Given the description of an element on the screen output the (x, y) to click on. 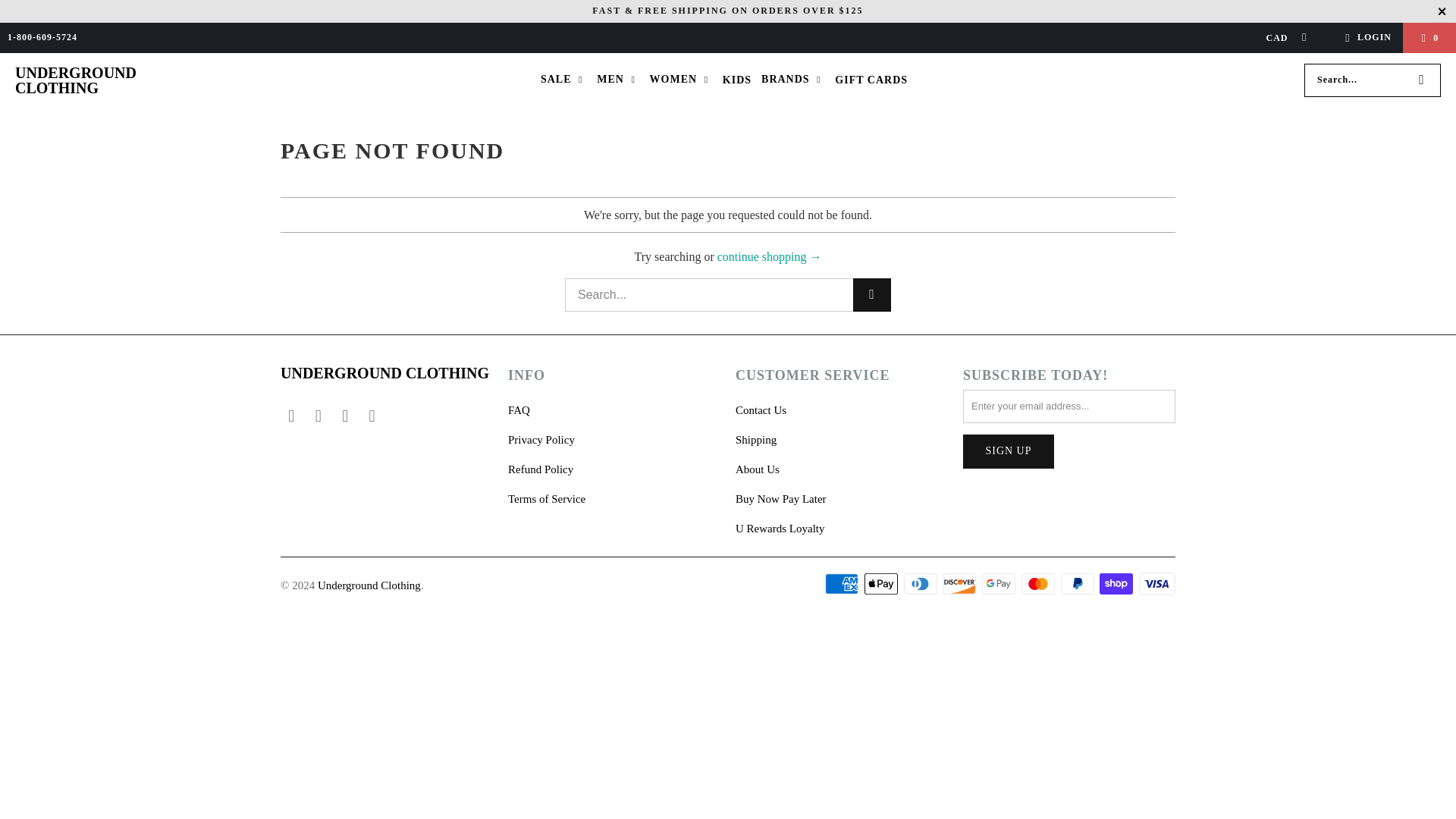
Email Underground Clothing (291, 416)
Shop Pay (1117, 583)
Discover (960, 583)
Diners Club (922, 583)
Underground Clothing on Facebook (318, 416)
Underground Clothing on Instagram (345, 416)
Google Pay (999, 583)
Sign Up (1008, 451)
Underground Clothing (79, 80)
Underground Clothing on Twitter (372, 416)
